Given the description of an element on the screen output the (x, y) to click on. 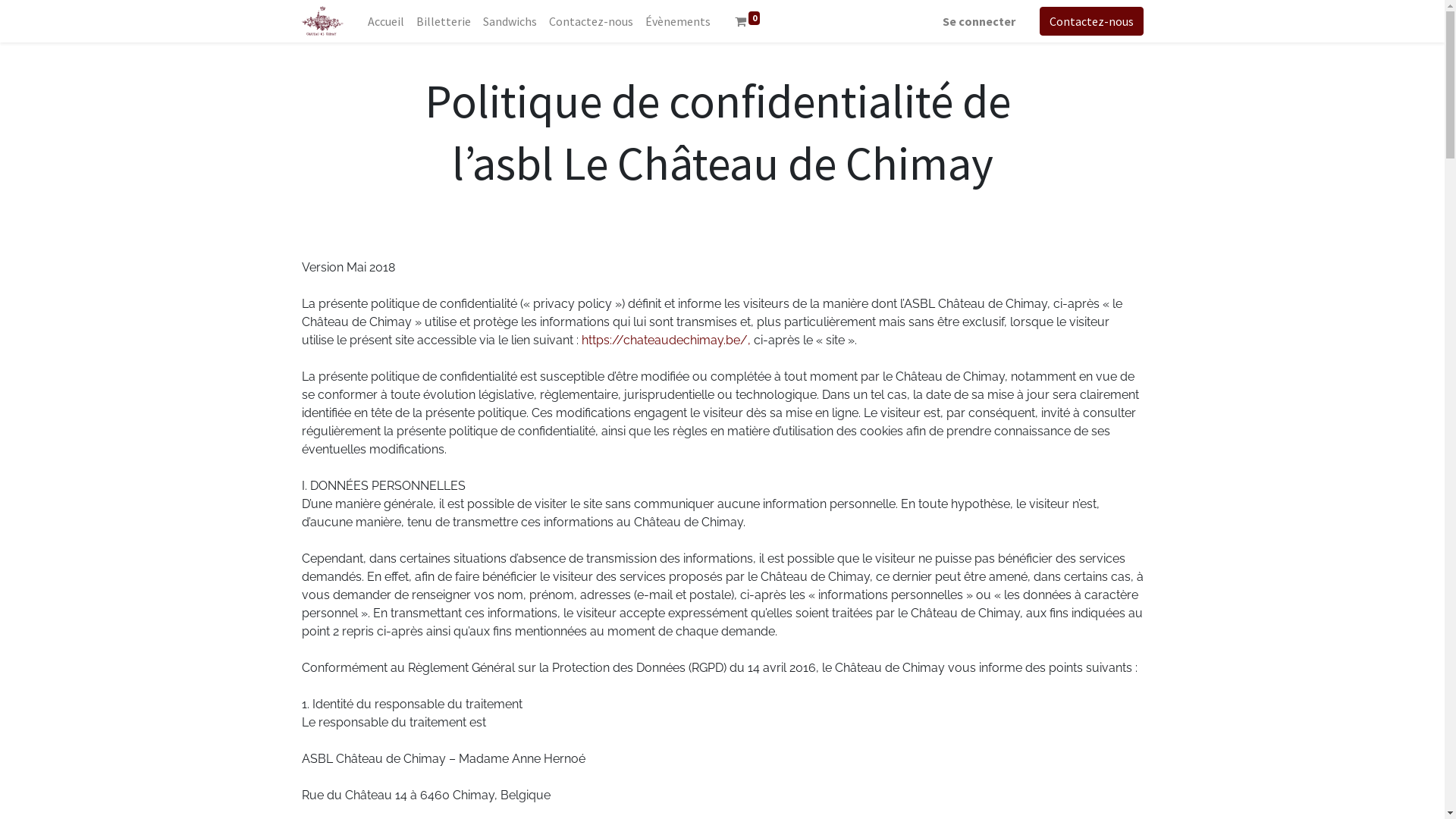
Se connecter Element type: text (977, 21)
Accueil Element type: text (385, 21)
Event Element type: hover (322, 21)
https://chateaudechimay.be/, Element type: text (664, 339)
0 Element type: text (747, 21)
Billetterie Element type: text (443, 21)
Contactez-nous Element type: text (590, 21)
Sandwichs Element type: text (509, 21)
Contactez-nous Element type: text (1090, 20)
